Given the description of an element on the screen output the (x, y) to click on. 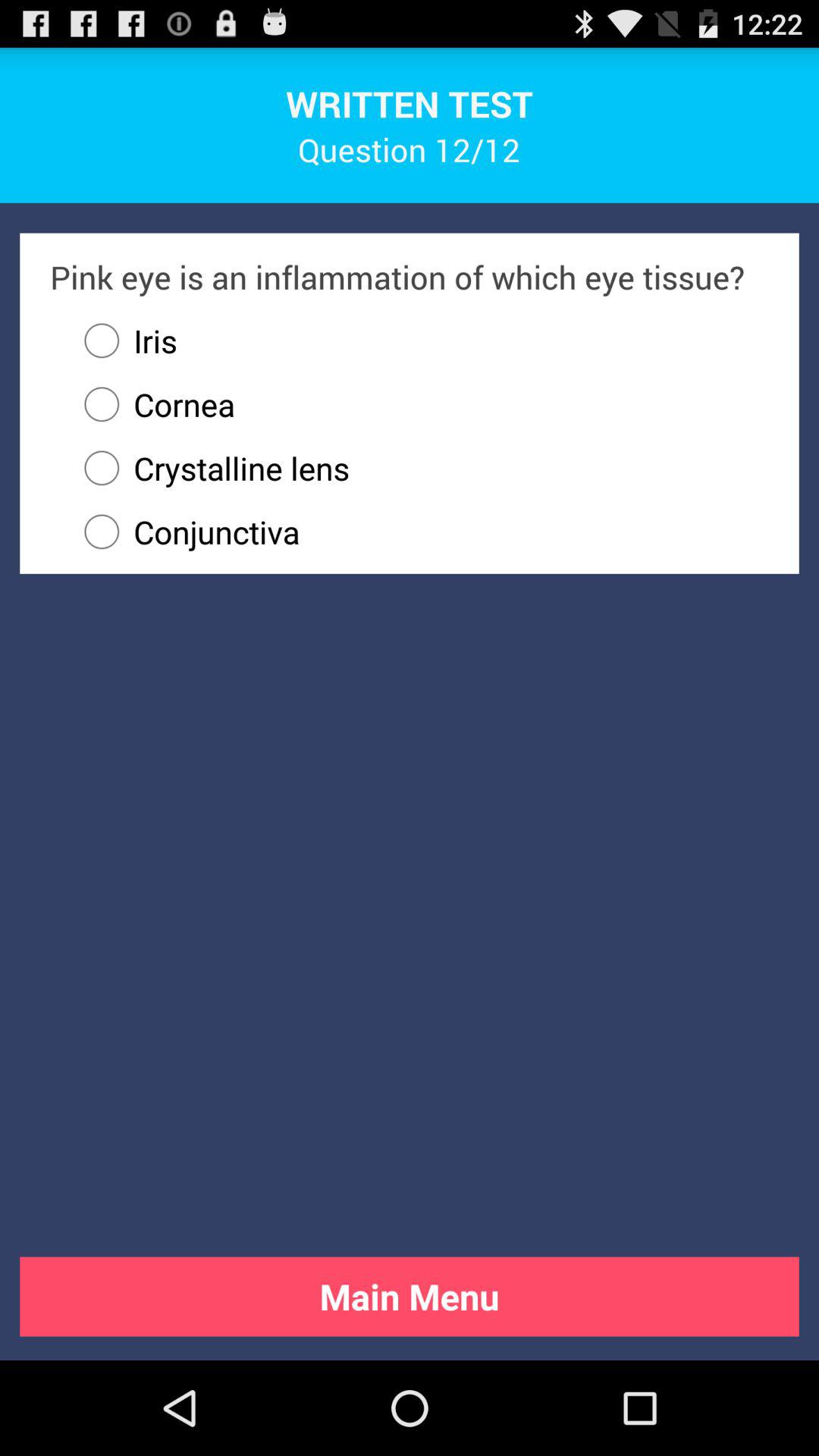
jump until the main menu button (409, 1296)
